Given the description of an element on the screen output the (x, y) to click on. 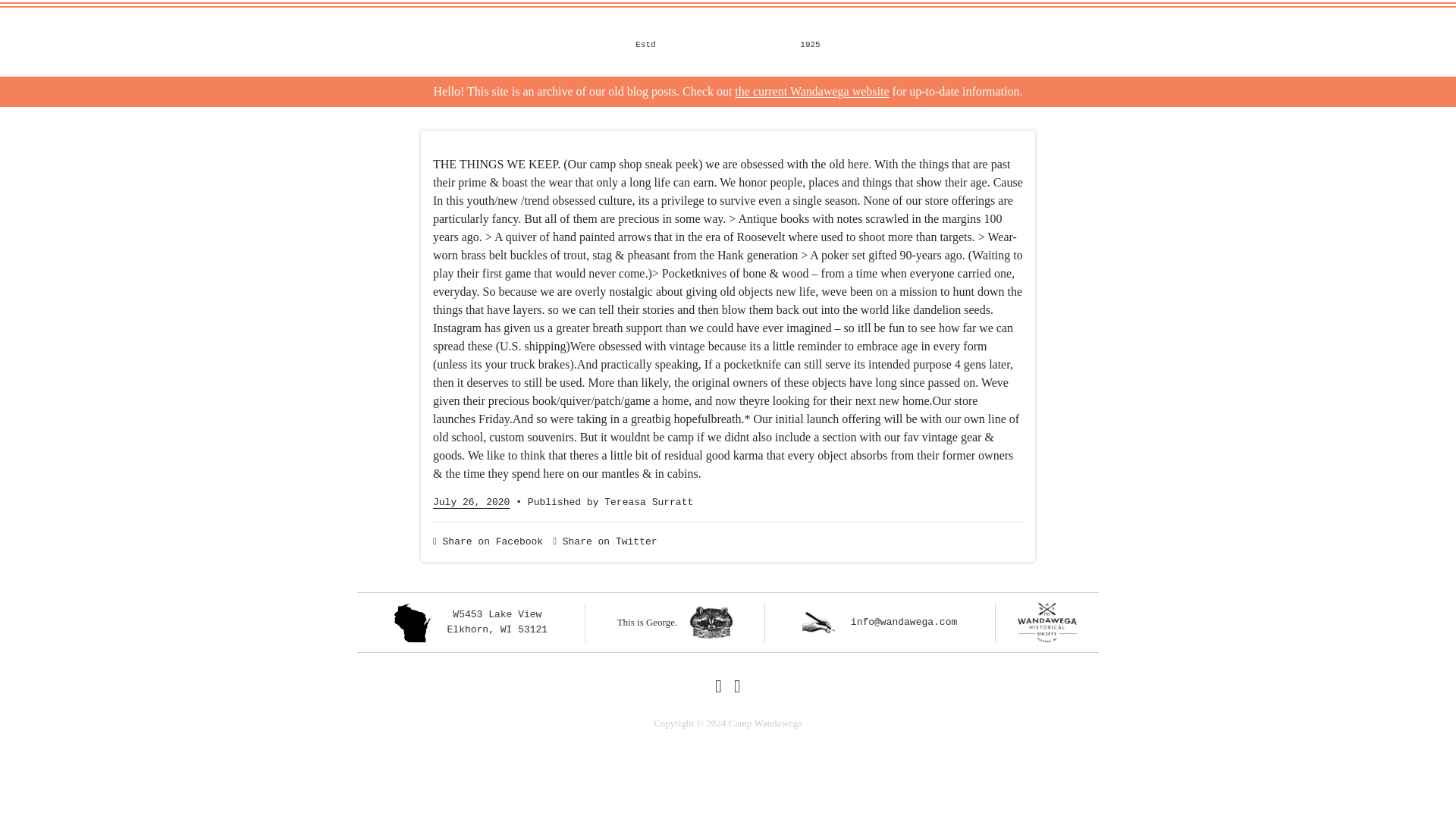
Share on Facebook (487, 541)
Directions to Camp Wandawega (470, 622)
This is George. (470, 622)
Wandwega (674, 622)
Camp Wandawega (811, 91)
the current Wandawega website (727, 41)
Email Camp Wandawega (811, 91)
This is George. (879, 622)
Share on Twitter (674, 622)
